Given the description of an element on the screen output the (x, y) to click on. 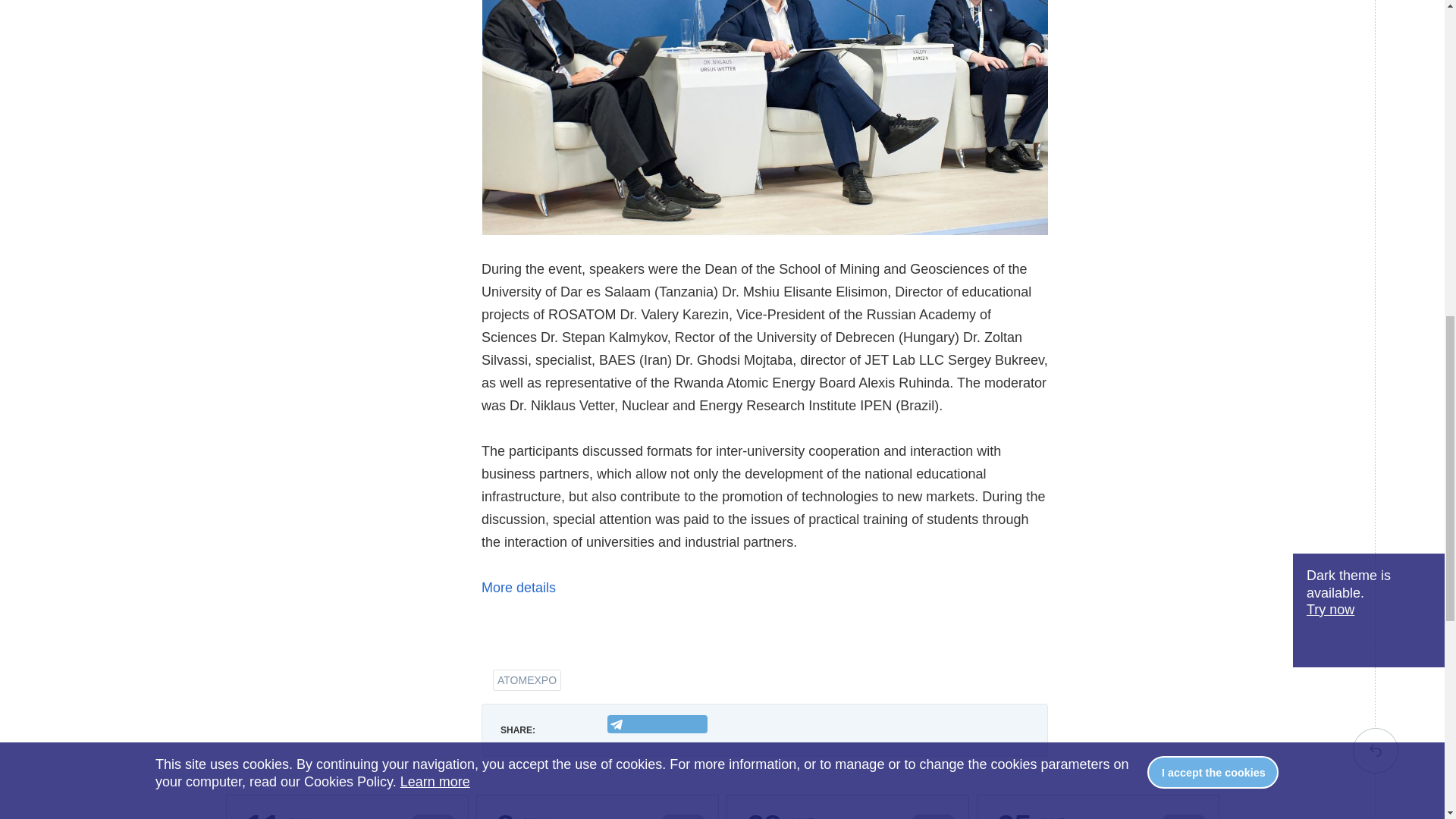
Telegram (656, 723)
Atom1.PNG (764, 117)
